Given the description of an element on the screen output the (x, y) to click on. 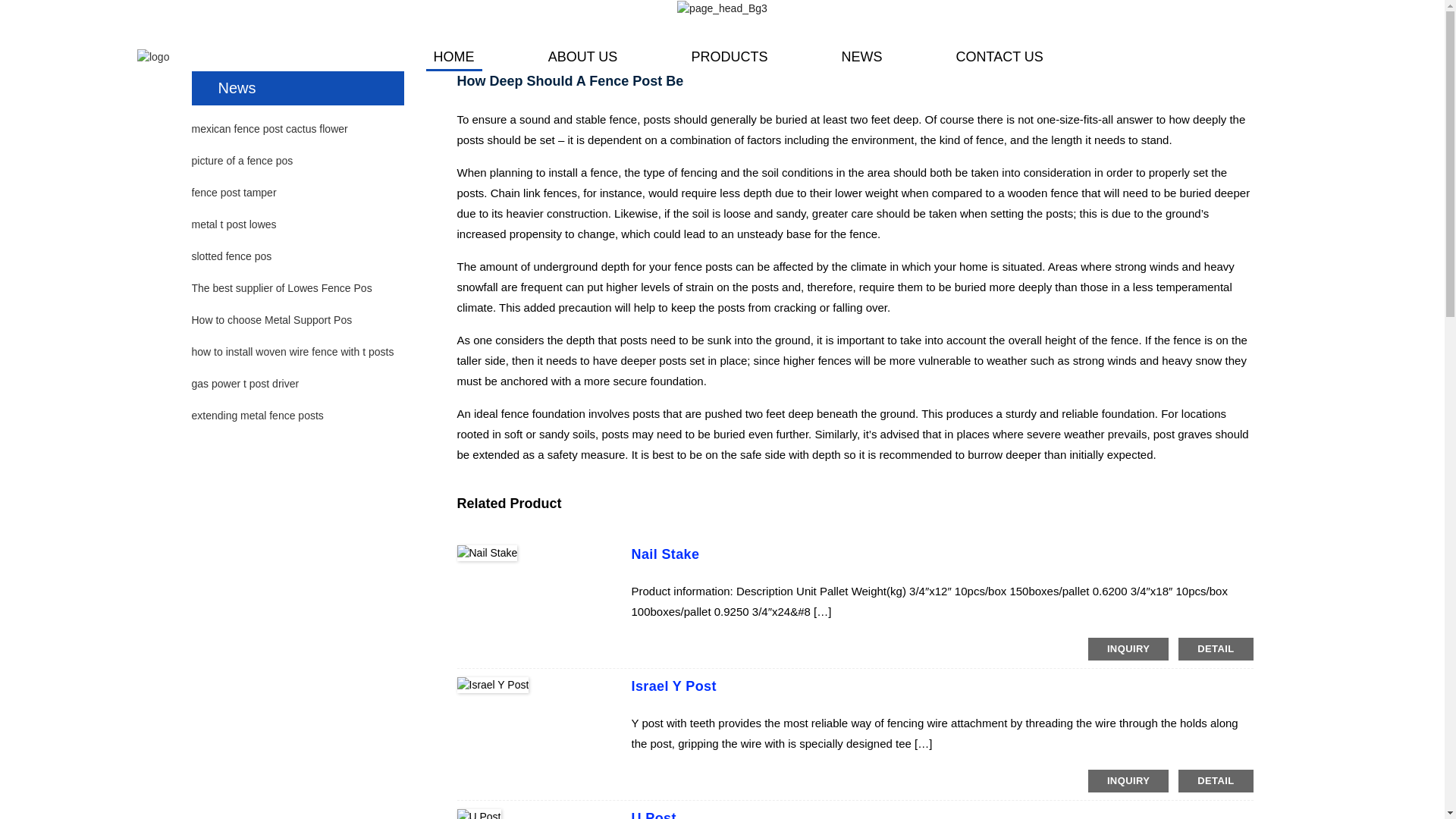
HOME (453, 56)
Israel Y Post (673, 685)
slotted fence pos (230, 256)
How to choose Metal Support Pos (271, 319)
INQUIRY (1128, 780)
mexican fence post cactus flower (268, 128)
how to install woven wire fence with t posts (291, 351)
fence post tamper (233, 192)
Nail Stake (664, 554)
U Post (652, 814)
